Given the description of an element on the screen output the (x, y) to click on. 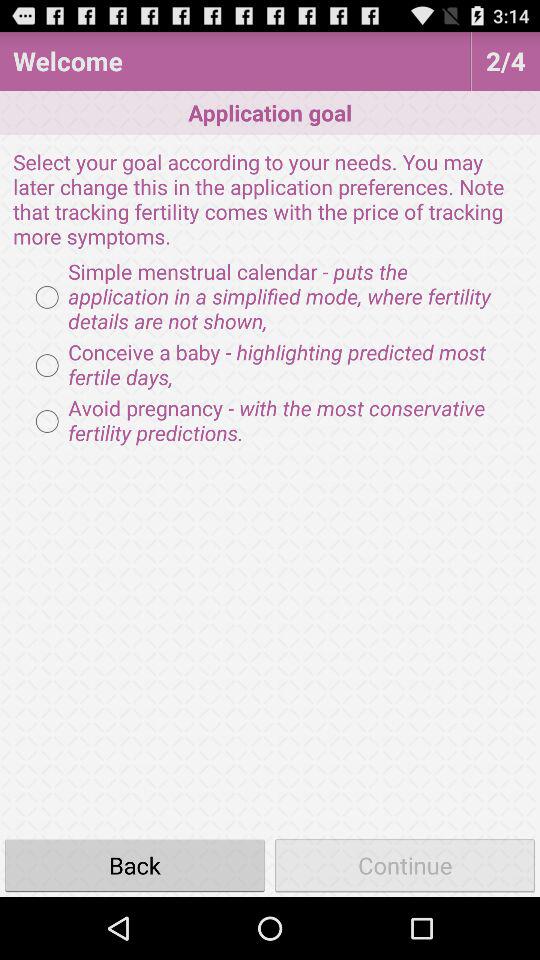
scroll until the avoid pregnancy with icon (269, 421)
